Given the description of an element on the screen output the (x, y) to click on. 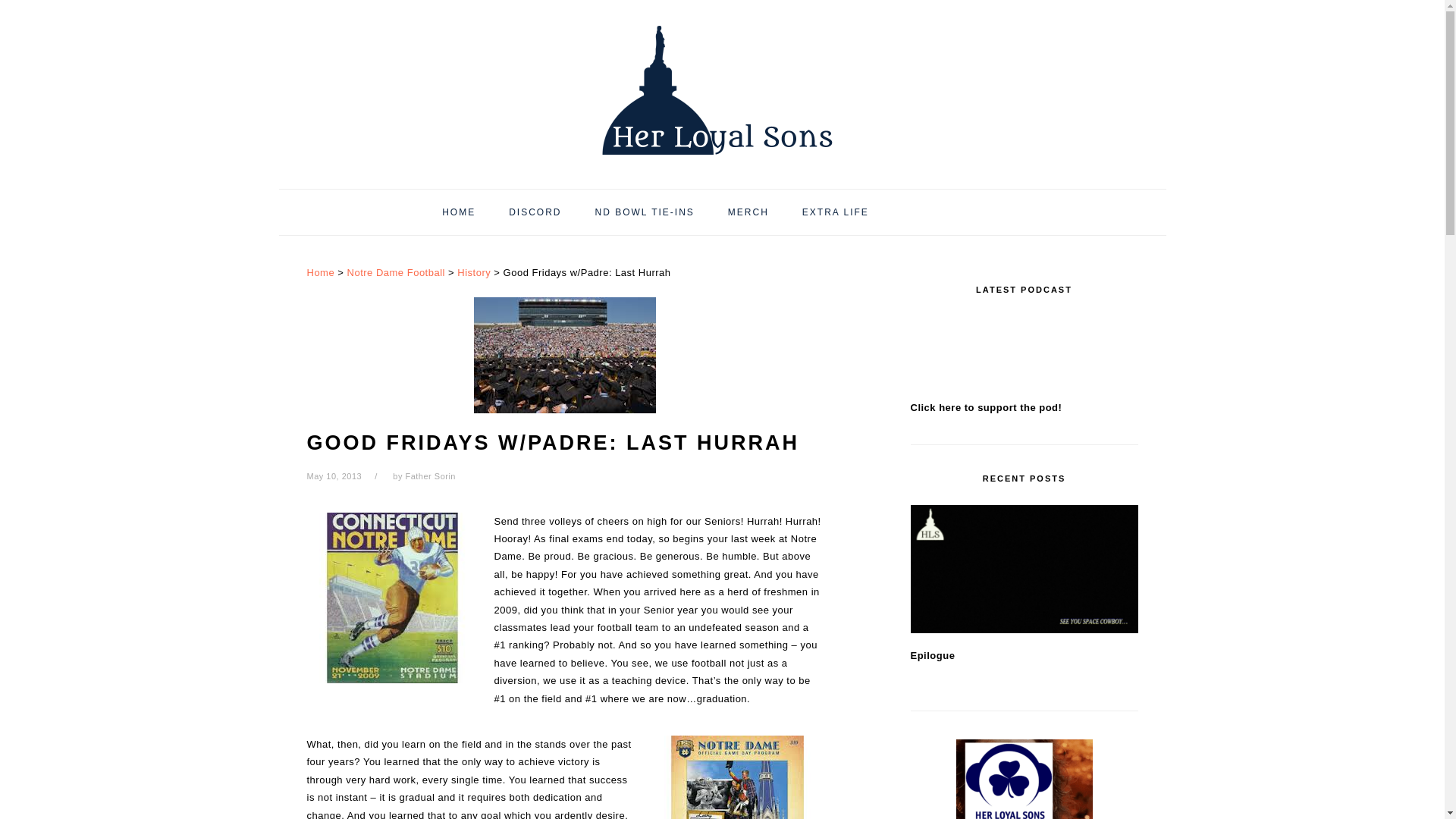
History (473, 272)
Home (319, 272)
HOME (459, 212)
DISCORD (534, 212)
MERCH (747, 212)
Father Sorin (429, 475)
HLS Podcast Finale (1023, 779)
HER LOYAL SONS (721, 89)
Epilogue (1023, 569)
ND BOWL TIE-INS (644, 212)
Notre Dame Football (396, 272)
Posts by Father Sorin (429, 475)
EXTRA LIFE (835, 212)
